Given the description of an element on the screen output the (x, y) to click on. 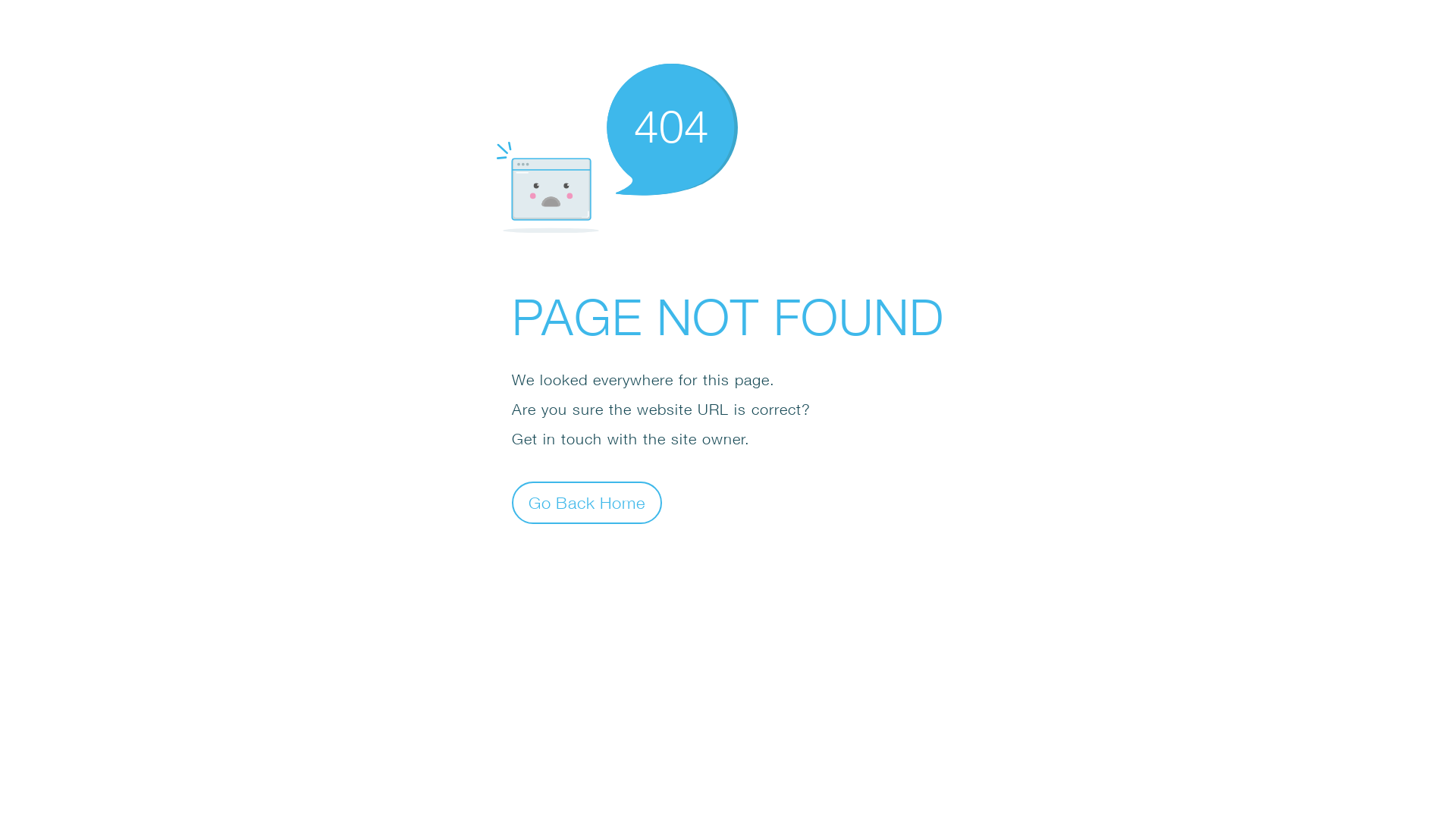
Go Back Home Element type: text (586, 502)
